Given the description of an element on the screen output the (x, y) to click on. 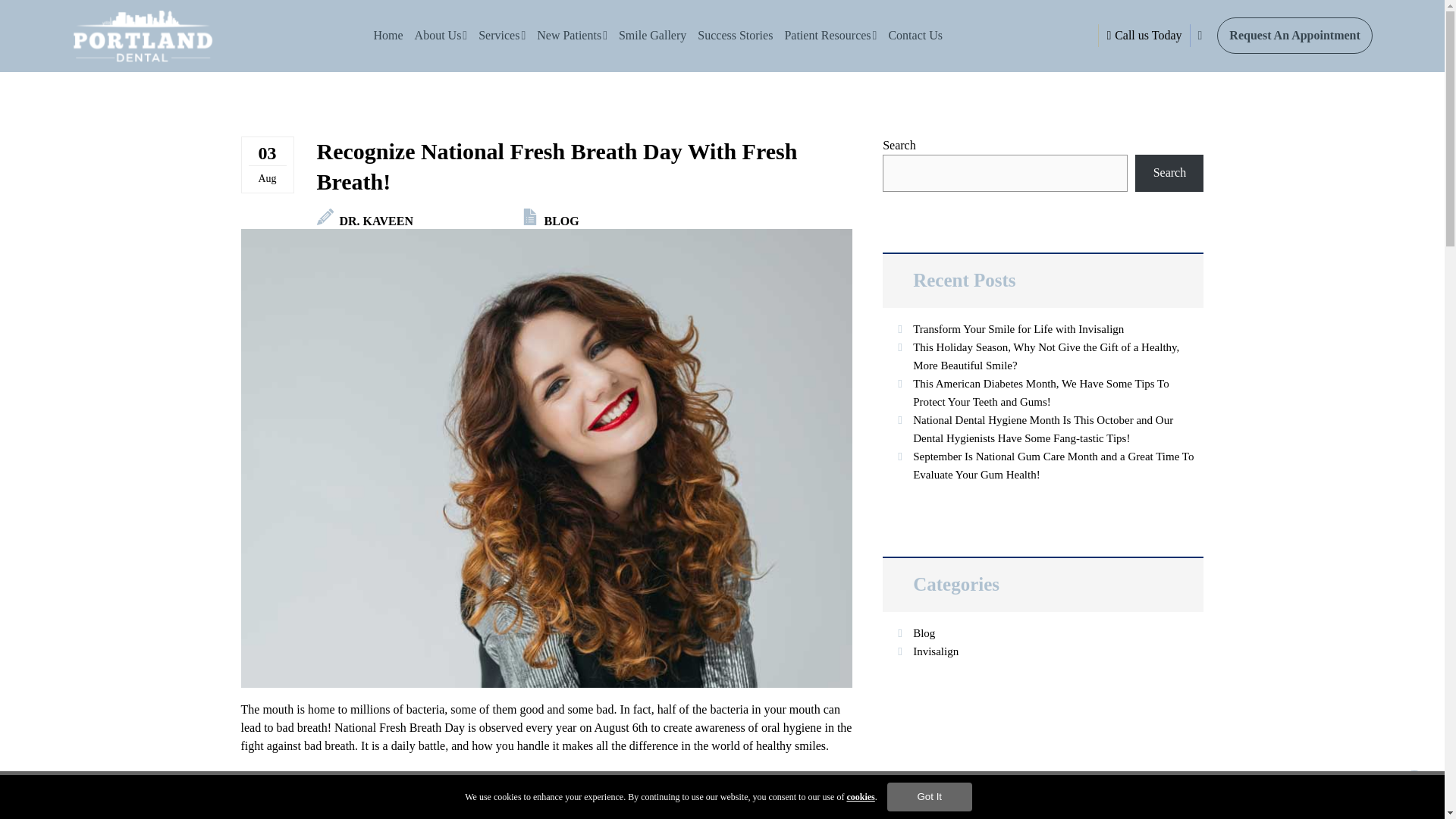
Patient Resources (830, 35)
New Patients (572, 35)
Home (387, 35)
Success Stories (735, 35)
Services (502, 35)
Smile Gallery (651, 35)
About Us (440, 35)
